Given the description of an element on the screen output the (x, y) to click on. 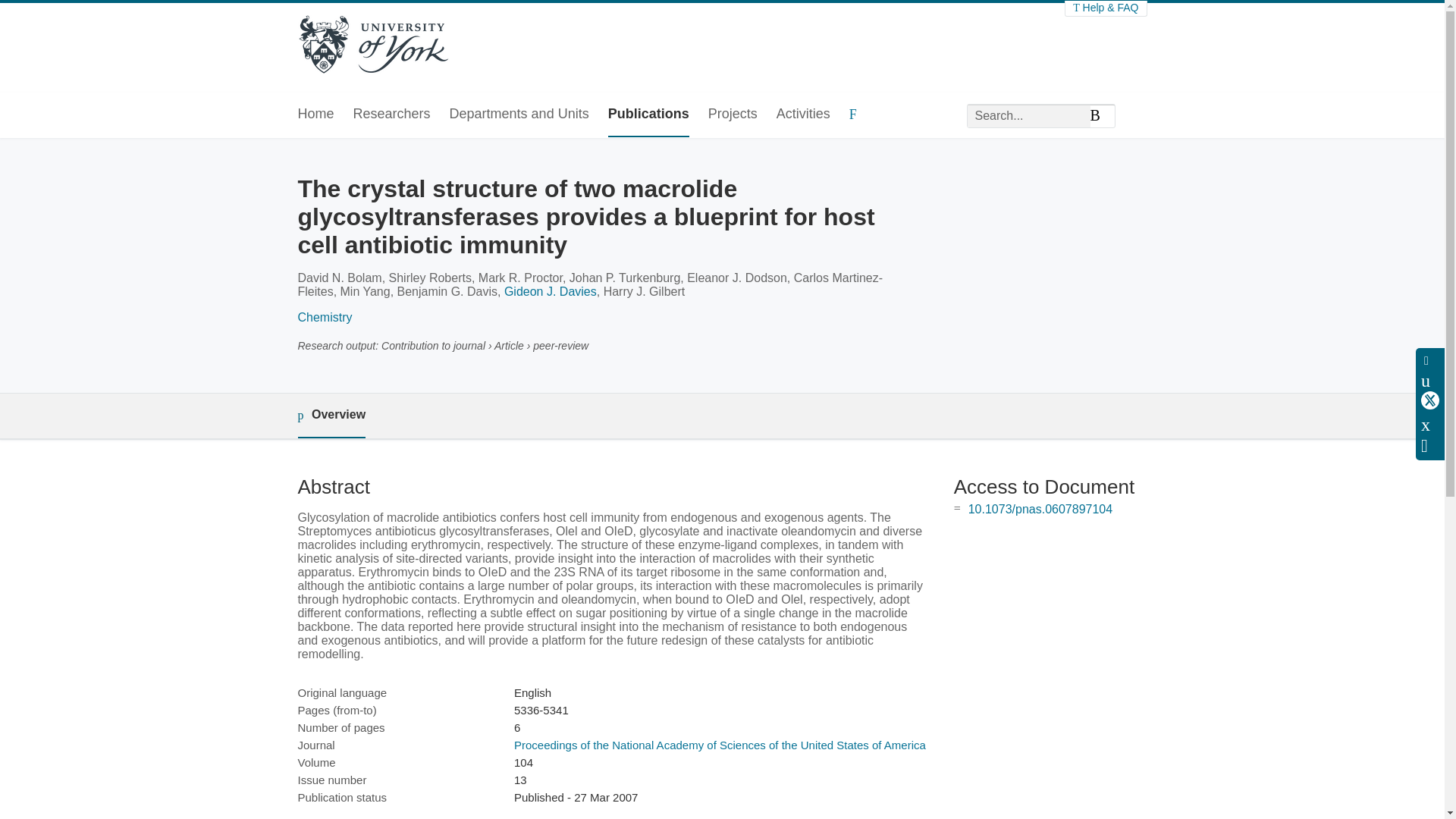
Overview (331, 415)
Publications (648, 114)
Departments and Units (519, 114)
Gideon J. Davies (549, 291)
Projects (732, 114)
Researchers (391, 114)
Chemistry (324, 317)
Activities (802, 114)
York Research Database Home (372, 45)
